Given the description of an element on the screen output the (x, y) to click on. 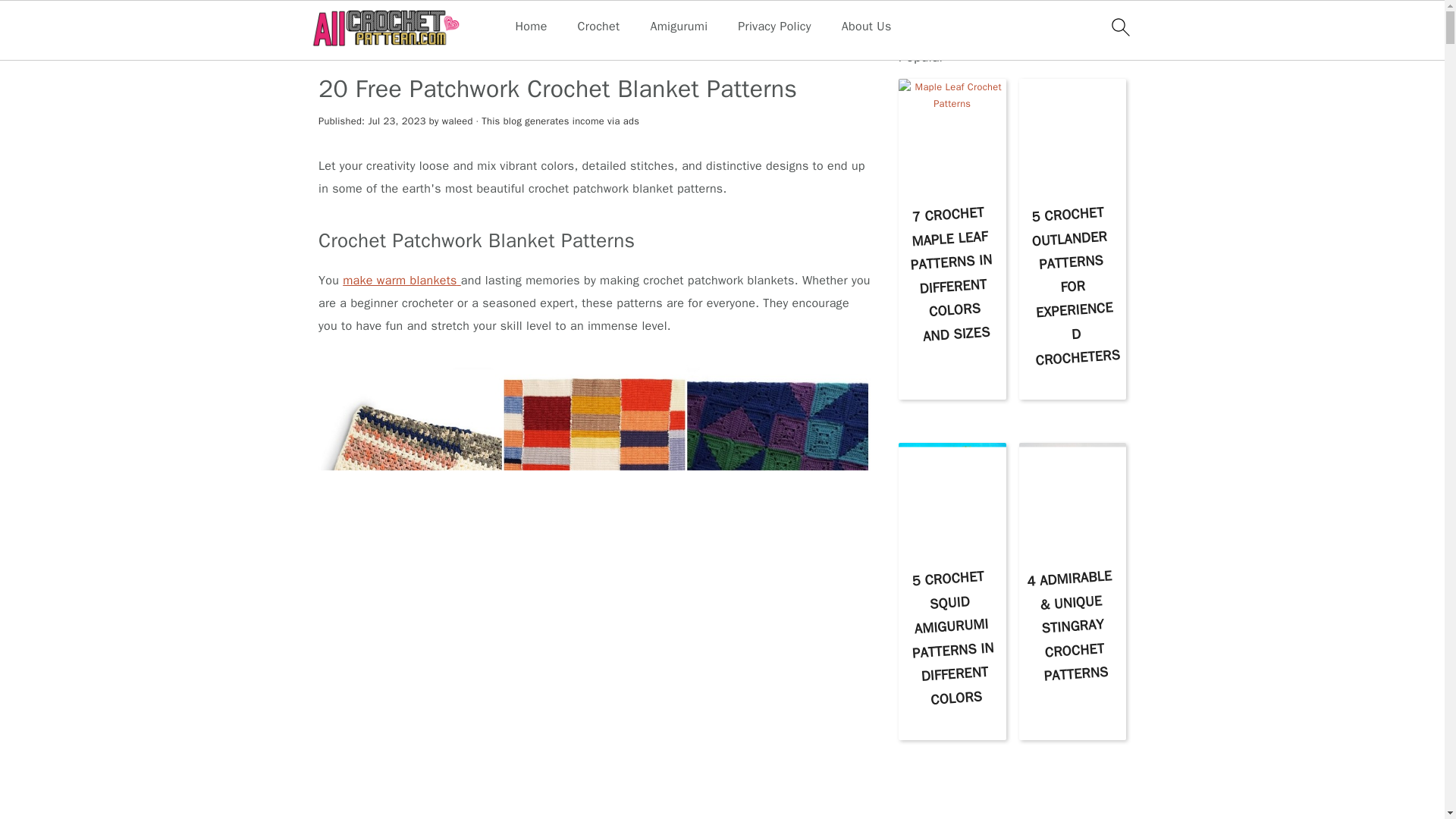
Free Crochet Patterns (378, 50)
About Us (866, 26)
search icon (1119, 26)
Privacy Policy (774, 26)
Crochet (599, 26)
make warm blankets (401, 280)
Amigurumi (678, 26)
Home (531, 26)
